Given the description of an element on the screen output the (x, y) to click on. 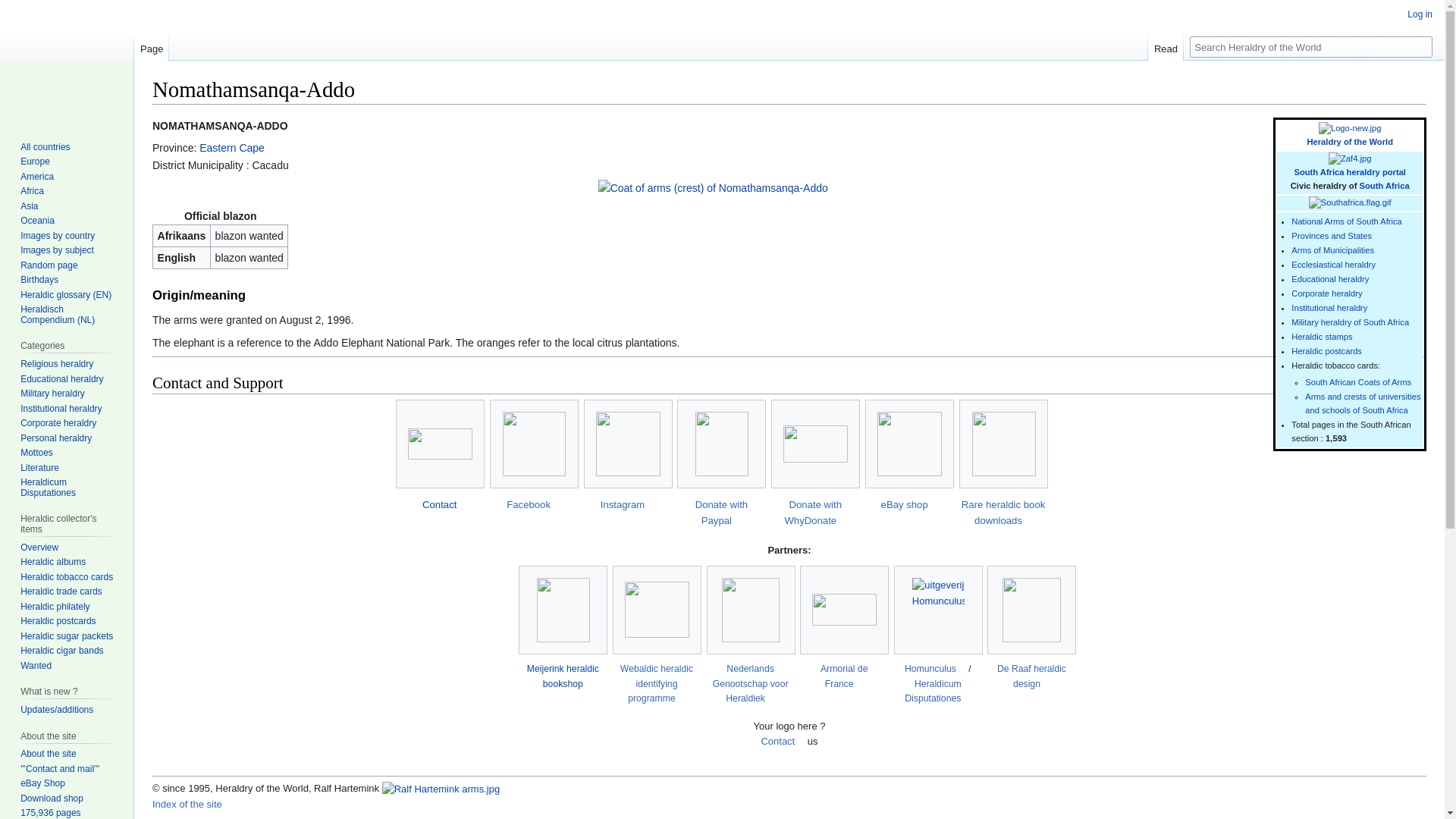
Heraldic postcards South Africa (1326, 350)
South Africa (1350, 171)
Contact (439, 504)
South African Coats of Arms (1357, 381)
Category:Educational heraldry of South Africa (1329, 278)
Eastern Cape (231, 147)
Go (1420, 46)
National Arms of South Africa (1346, 221)
National Arms of South Africa (1346, 221)
Contact (439, 504)
South Africa (1384, 185)
Corporate heraldry (1326, 293)
Eastern Cape (231, 147)
Ecclesiastical heraldry (1333, 264)
